Given the description of an element on the screen output the (x, y) to click on. 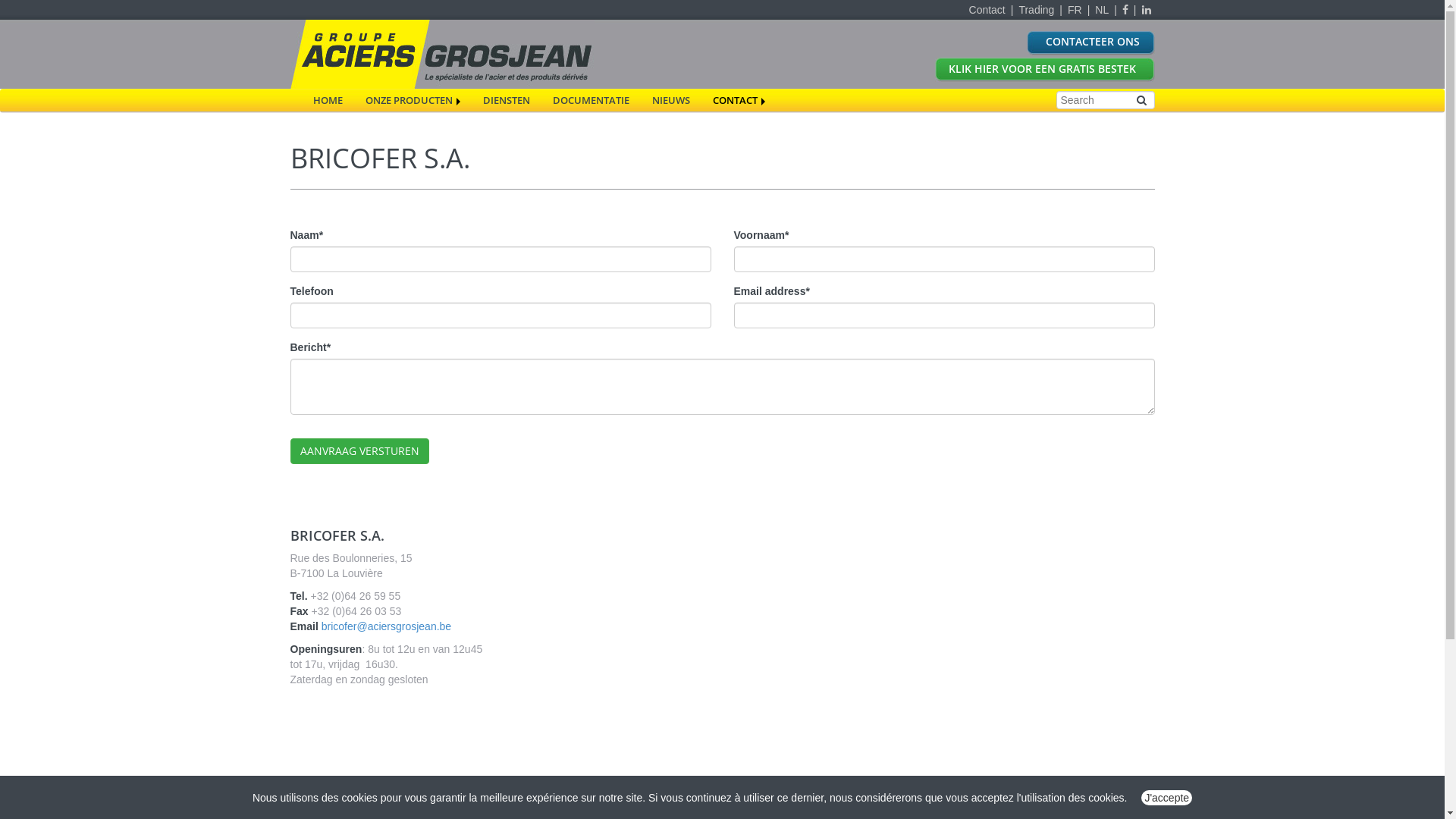
ONZE PRODUCTEN Element type: text (411, 99)
Contact Element type: text (987, 9)
Trading Element type: text (1035, 9)
CONTACTEER ONS Element type: text (1017, 43)
DIENSTEN Element type: text (506, 99)
NIEUWS Element type: text (670, 99)
FR Element type: text (1074, 9)
CONTACT Element type: text (737, 99)
NL Element type: text (1101, 9)
KLIK HIER VOOR EEN GRATIS BESTEK Element type: text (1017, 69)
AANVRAAG VERSTUREN Element type: text (358, 451)
HOME Element type: text (327, 99)
J'accepte Element type: text (1166, 797)
DOCUMENTATIE Element type: text (590, 99)
bricofer@aciersgrosjean.be Element type: text (386, 626)
